Given the description of an element on the screen output the (x, y) to click on. 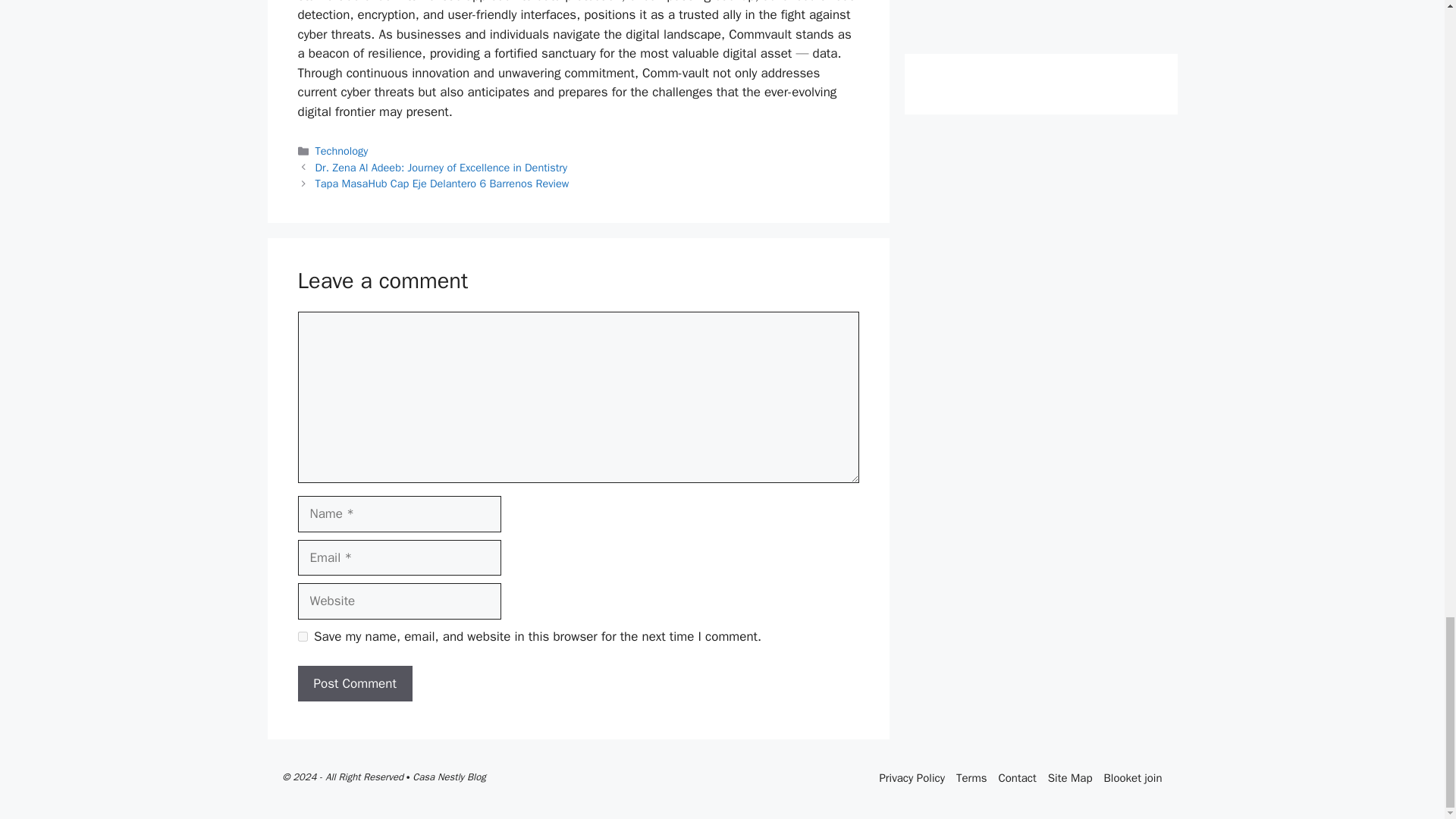
Contact (1016, 786)
Site Map (1070, 777)
Privacy Policy (911, 786)
Post Comment (354, 683)
Dr. Zena Al Adeeb: Journey of Excellence in Dentistry (441, 167)
Post Comment (354, 683)
yes (302, 636)
Technology (341, 151)
Tapa MasaHub Cap Eje Delantero 6 Barrenos Review (442, 183)
Casa Nestly Blog (448, 776)
